Given the description of an element on the screen output the (x, y) to click on. 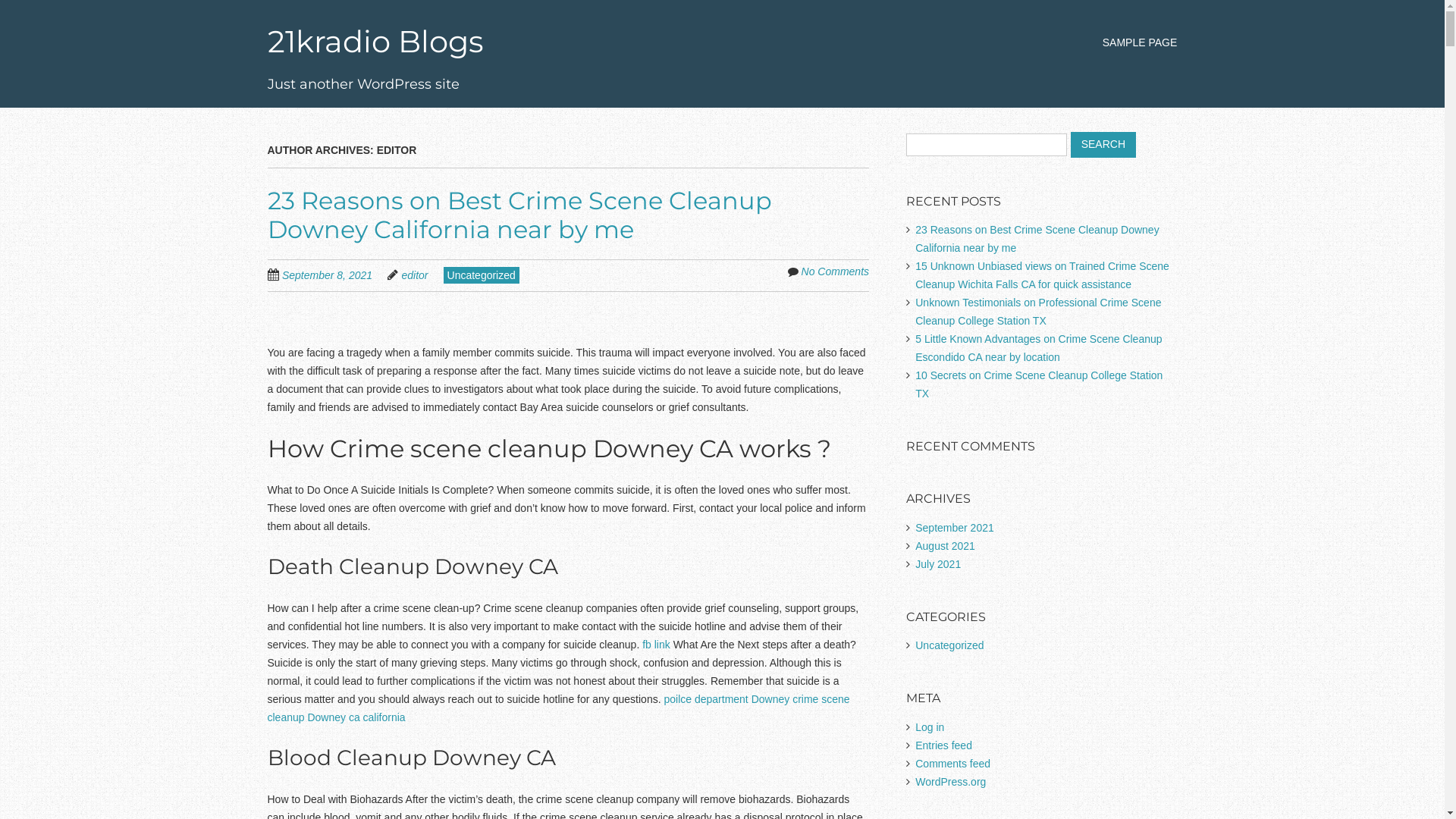
September 8, 2021 Element type: text (334, 274)
September 2021 Element type: text (954, 527)
21kradio Blogs Element type: text (374, 40)
SAMPLE PAGE Element type: text (1139, 42)
crime scene cleanup Downey ca california Element type: text (557, 708)
Comments feed Element type: text (952, 763)
10 Secrets on Crime Scene Cleanup College Station TX Element type: text (1038, 384)
poilce department Downey Element type: text (726, 699)
Log in Element type: text (929, 727)
July 2021 Element type: text (937, 564)
Uncategorized Element type: text (481, 274)
Skip to content Element type: text (1119, 35)
No Comments Element type: text (835, 271)
editor Element type: text (414, 275)
August 2021 Element type: text (945, 545)
Entries feed Element type: text (943, 745)
fb link Element type: text (656, 644)
Uncategorized Element type: text (949, 645)
WordPress.org Element type: text (950, 781)
Search Element type: text (1102, 144)
